Given the description of an element on the screen output the (x, y) to click on. 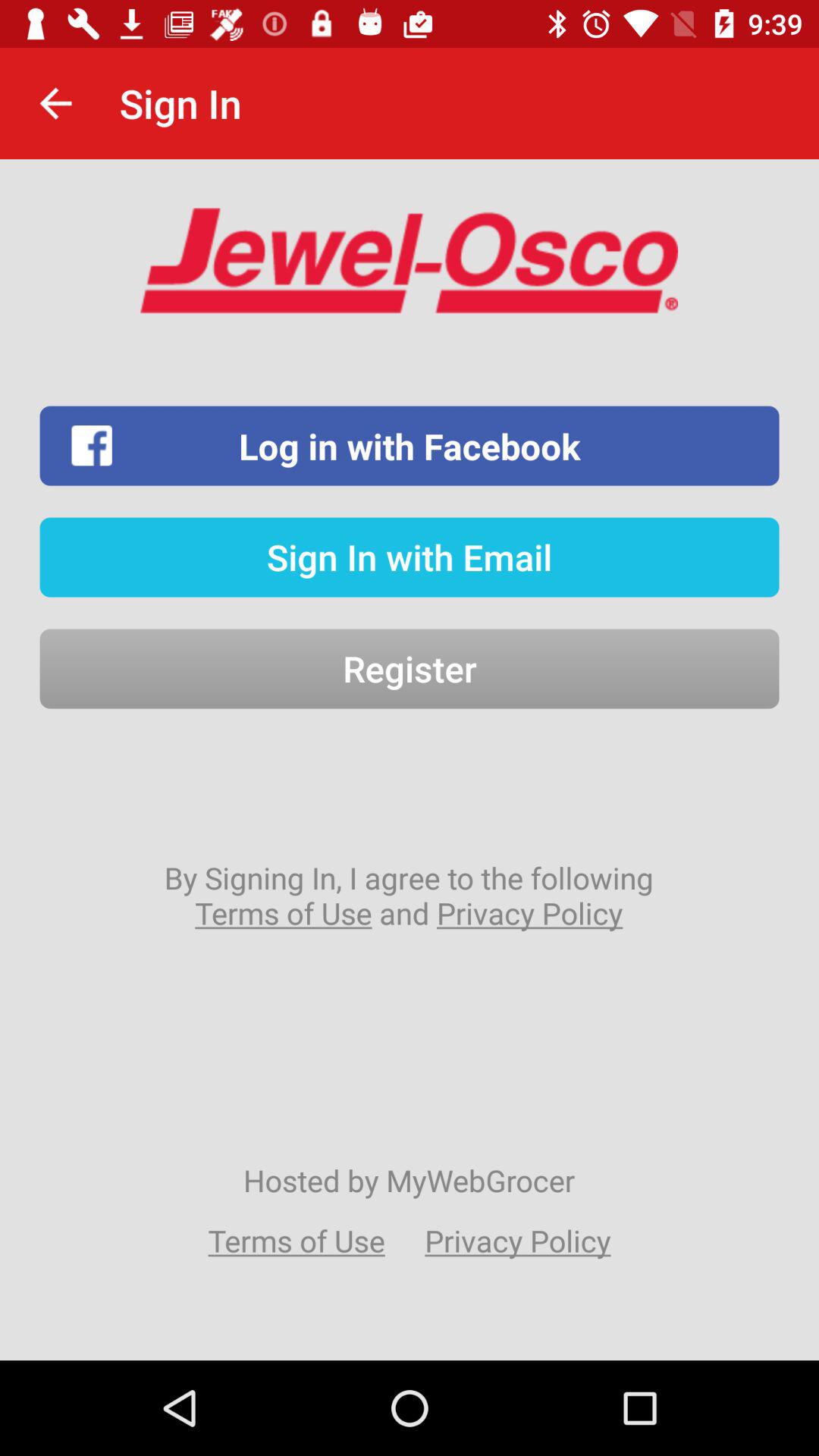
launch the item below the sign in with (409, 668)
